Given the description of an element on the screen output the (x, y) to click on. 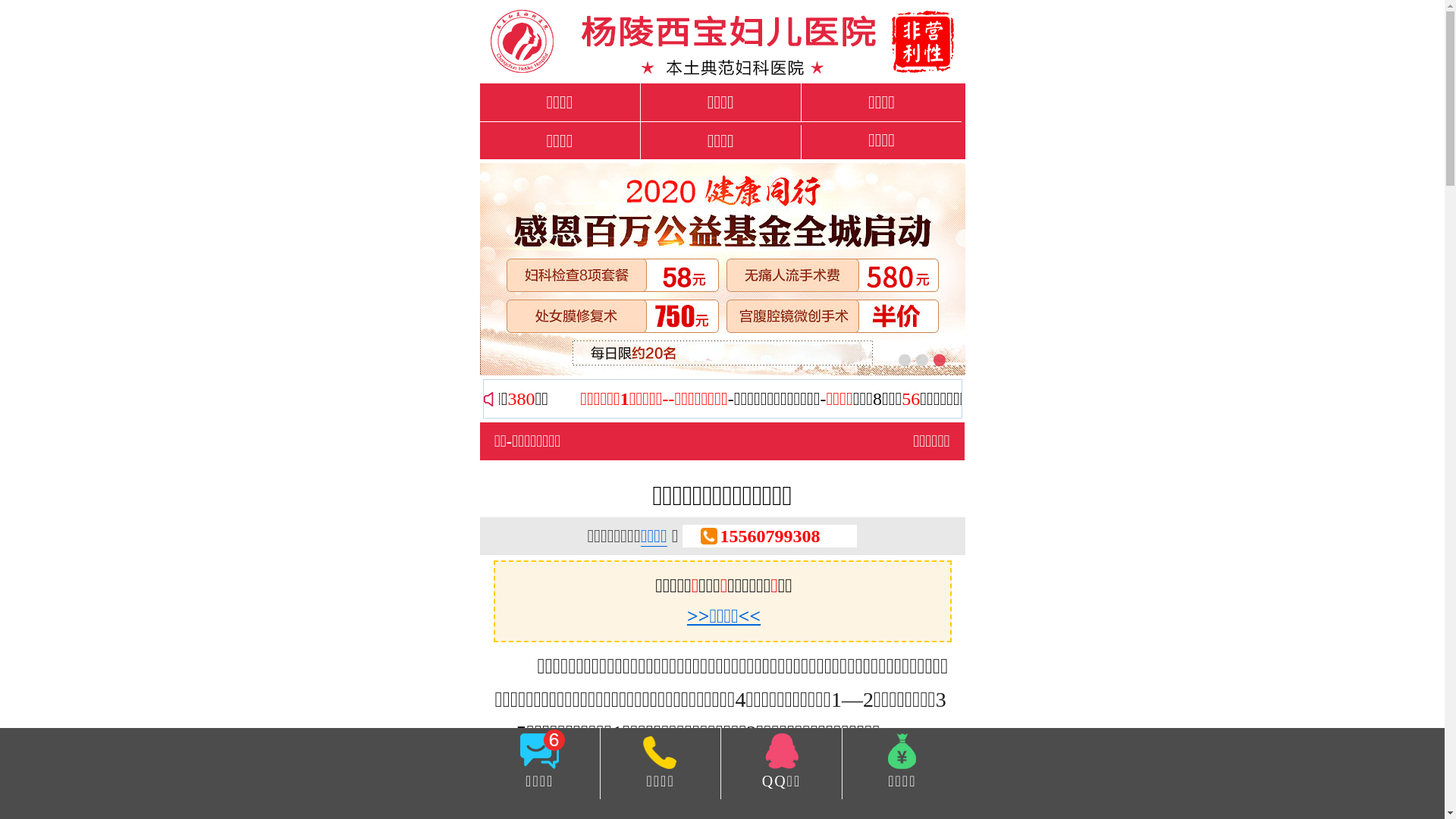
15560799308 Element type: text (769, 535)
